Given the description of an element on the screen output the (x, y) to click on. 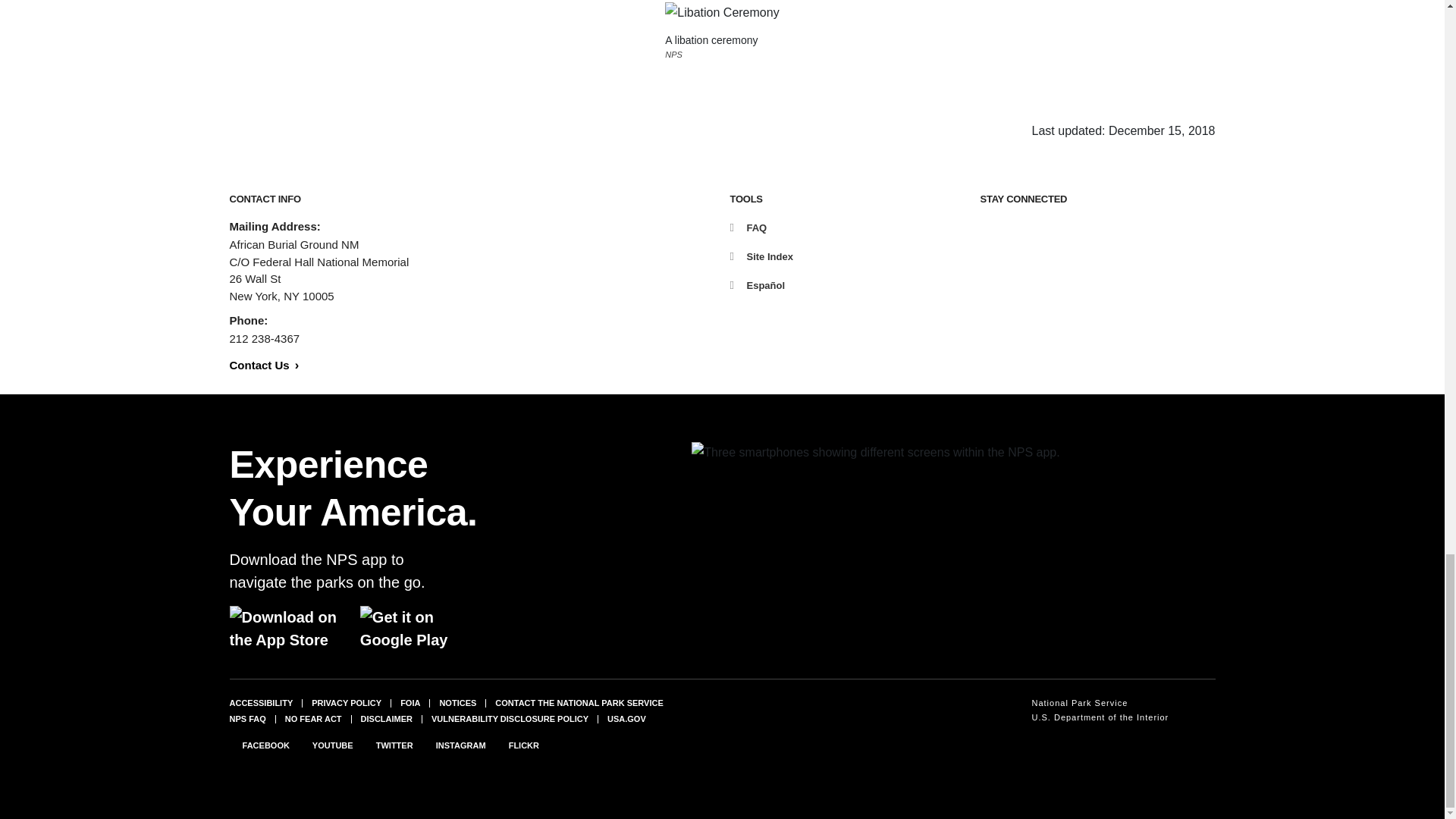
PRIVACY POLICY (346, 702)
ACCESSIBILITY (260, 702)
FAQ (748, 227)
National Park Service (1099, 703)
National Park Service frequently asked questions (246, 718)
FOIA (410, 702)
U.S. Department of the Interior (1099, 717)
Contact Us (263, 364)
The pouring of libation (721, 12)
Site Index (760, 256)
